Given the description of an element on the screen output the (x, y) to click on. 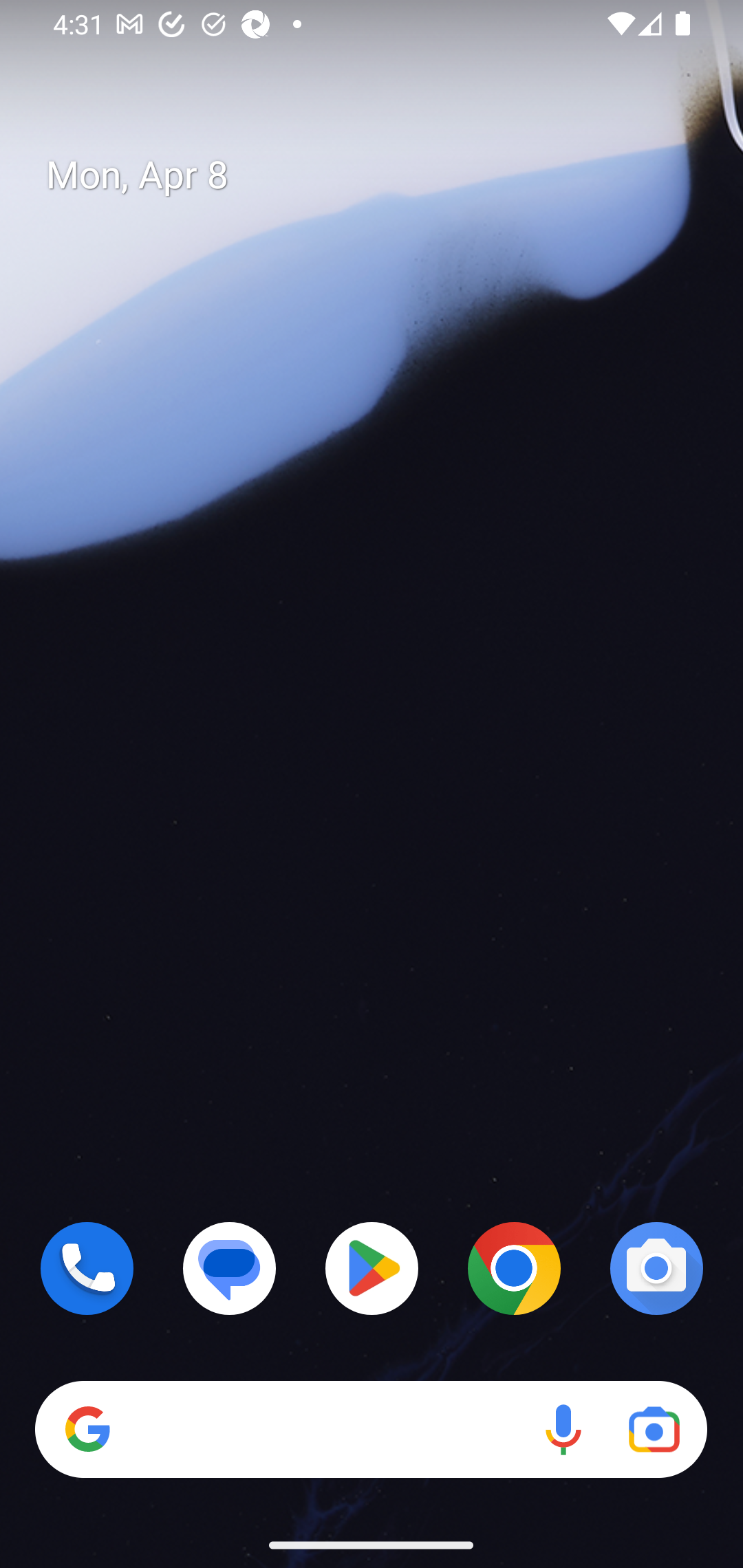
Mon, Apr 8 (386, 175)
Phone (86, 1268)
Messages (229, 1268)
Play Store (371, 1268)
Chrome (513, 1268)
Camera (656, 1268)
Search Voice search Google Lens (370, 1429)
Voice search (562, 1429)
Google Lens (653, 1429)
